Given the description of an element on the screen output the (x, y) to click on. 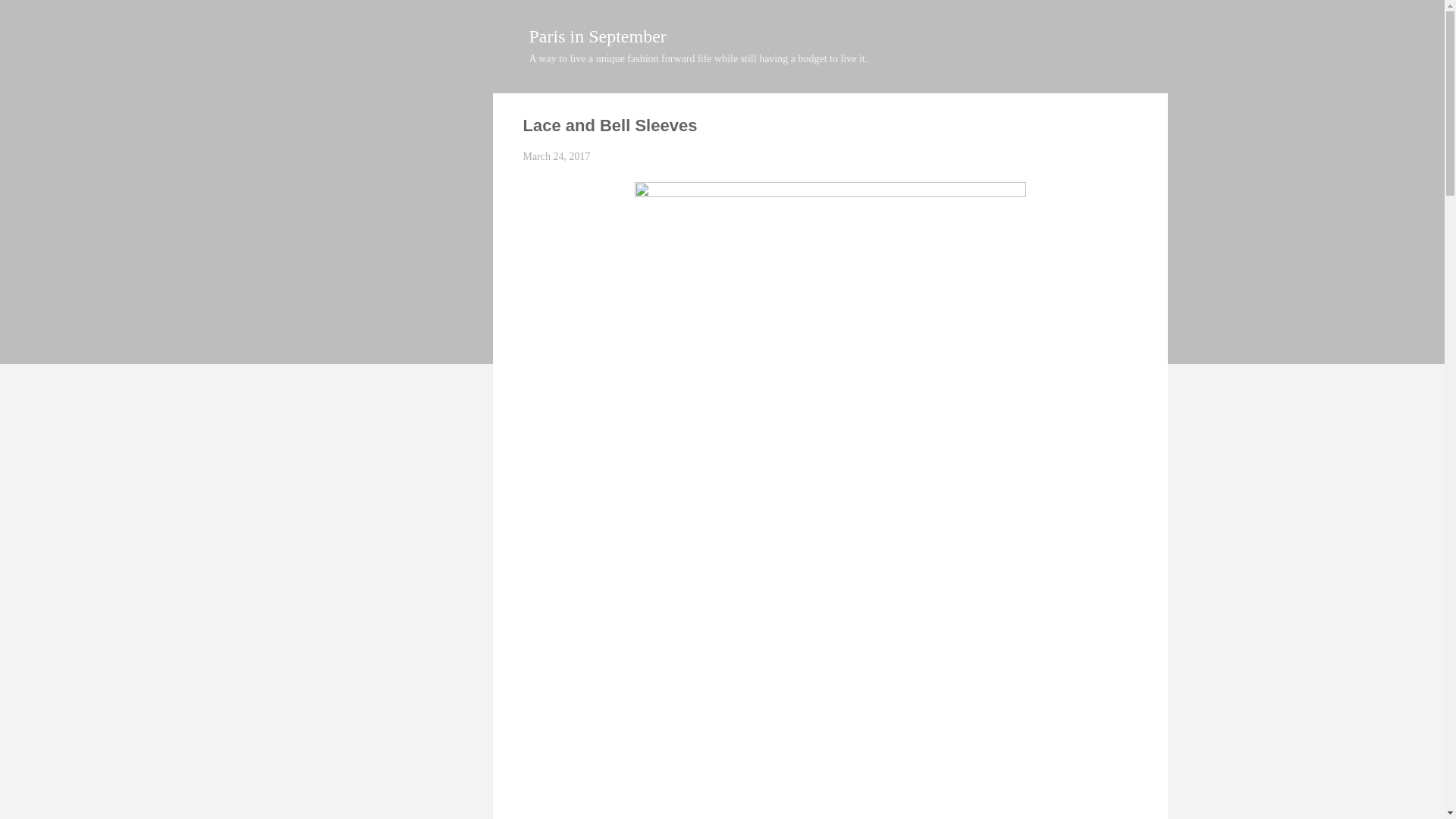
permanent link (556, 156)
Search (28, 18)
March 24, 2017 (556, 156)
Paris in September (597, 35)
